Given the description of an element on the screen output the (x, y) to click on. 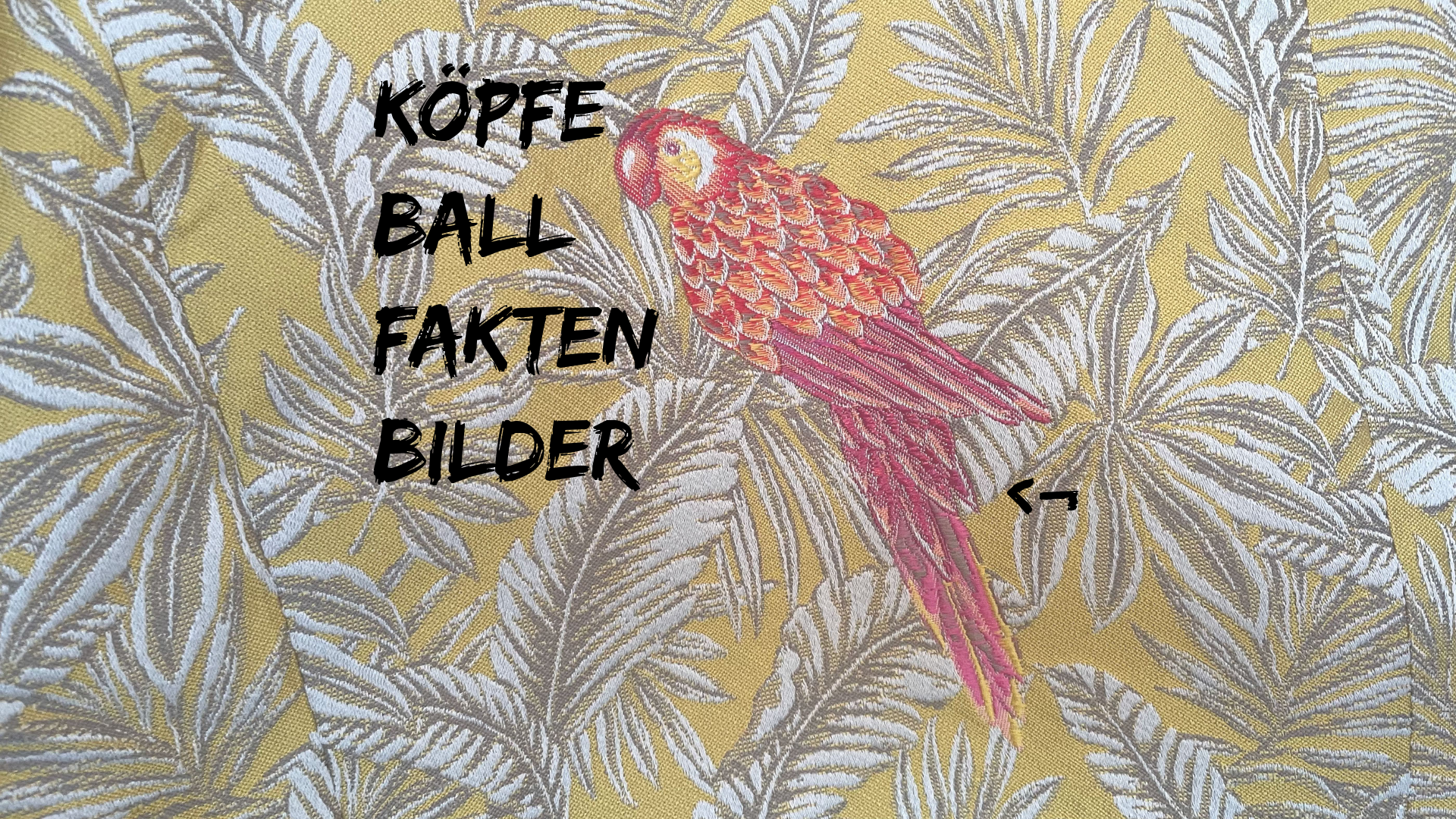
Ball Element type: text (727, 229)
Bilder Element type: text (727, 455)
Fakten Element type: text (727, 342)
